Given the description of an element on the screen output the (x, y) to click on. 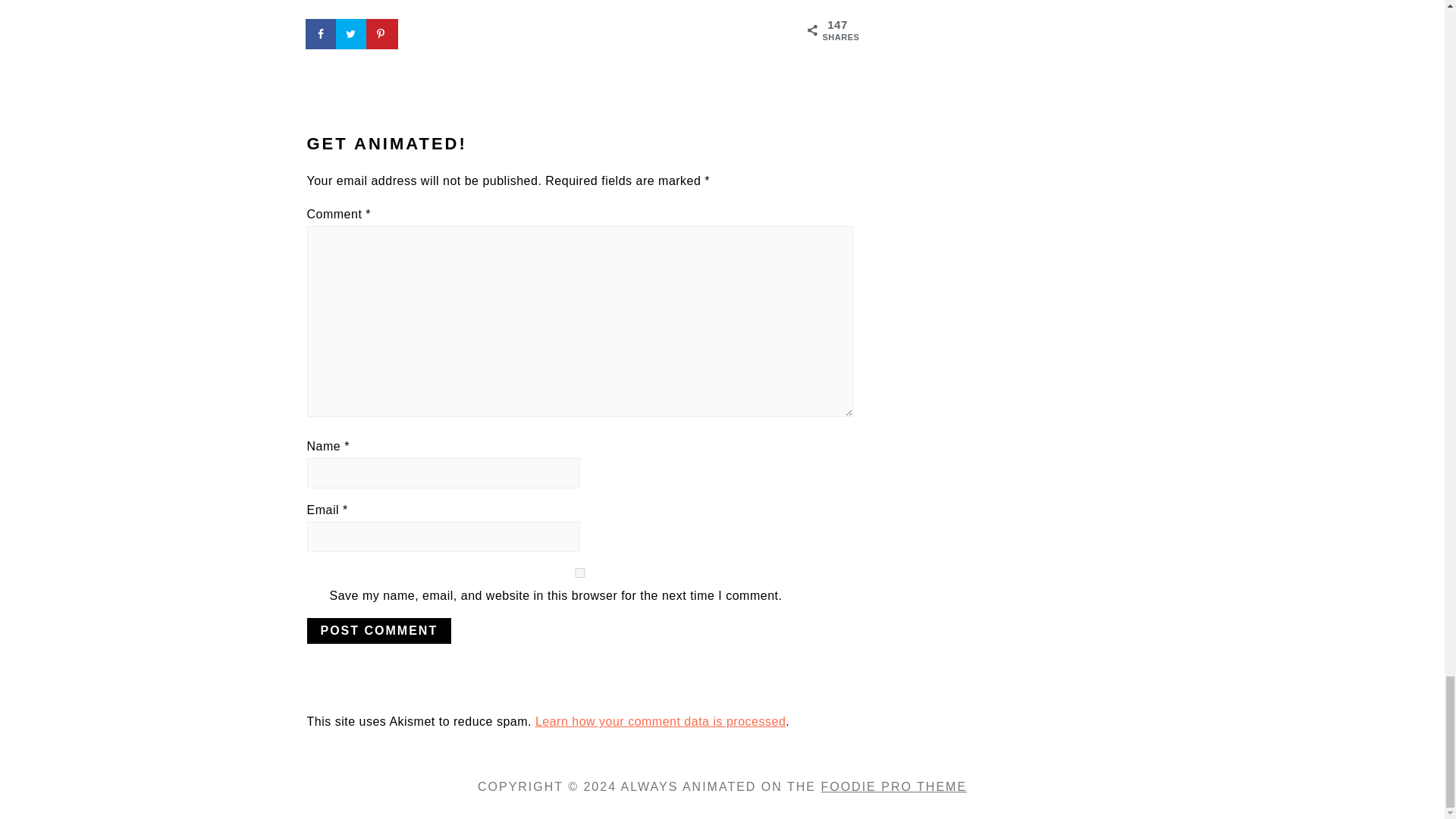
yes (578, 573)
Post Comment (378, 630)
Share on Facebook (320, 33)
Save to Pinterest (381, 33)
Share on Twitter (351, 33)
